Given the description of an element on the screen output the (x, y) to click on. 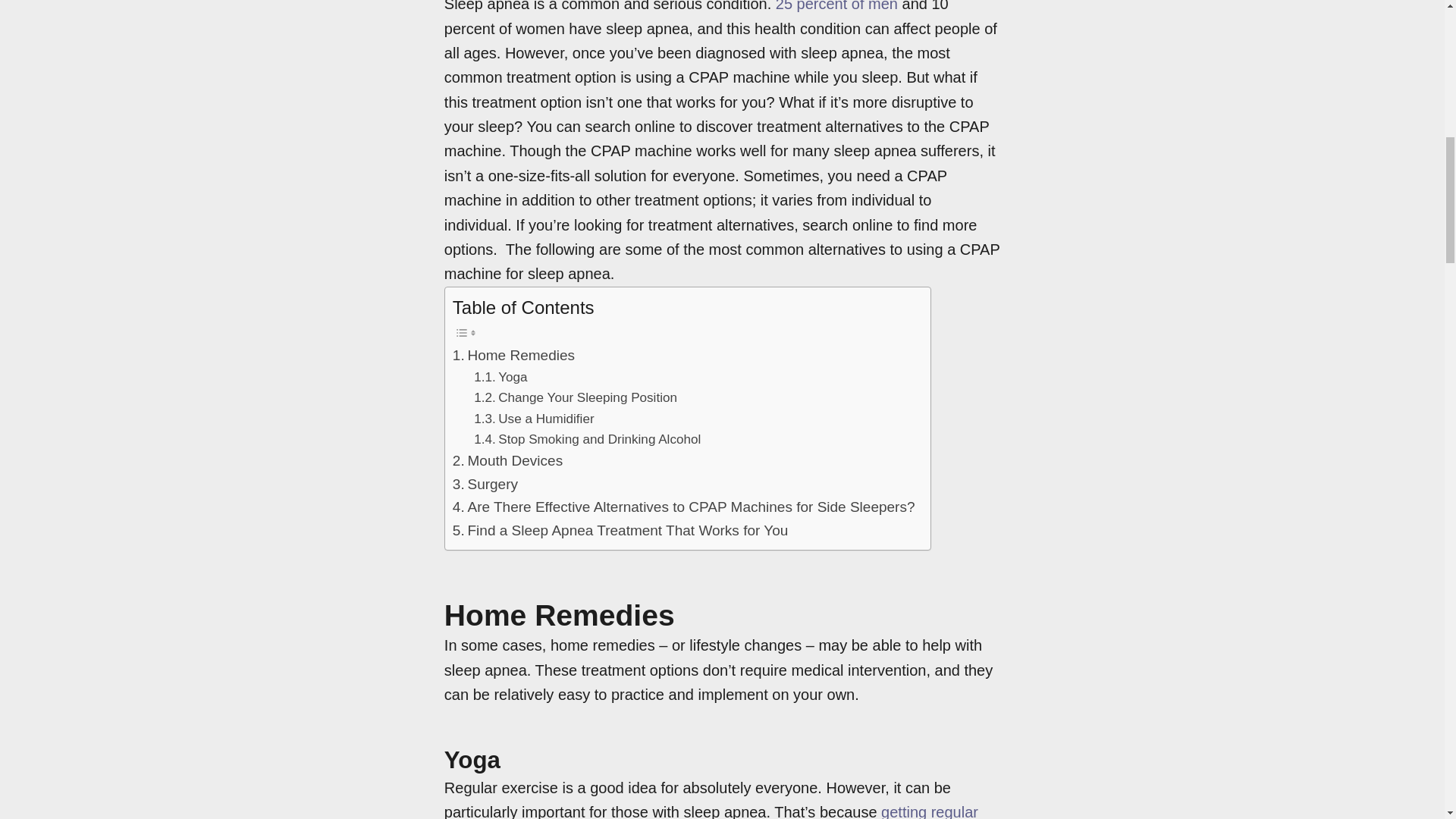
Find a Sleep Apnea Treatment That Works for You (620, 530)
Stop Smoking and Drinking Alcohol (587, 439)
Surgery (485, 484)
Find a Sleep Apnea Treatment That Works for You (620, 530)
Home Remedies (513, 354)
Yoga (500, 376)
Mouth Devices (507, 460)
getting regular exercise (711, 811)
Stop Smoking and Drinking Alcohol (587, 439)
Mouth Devices (507, 460)
